Given the description of an element on the screen output the (x, y) to click on. 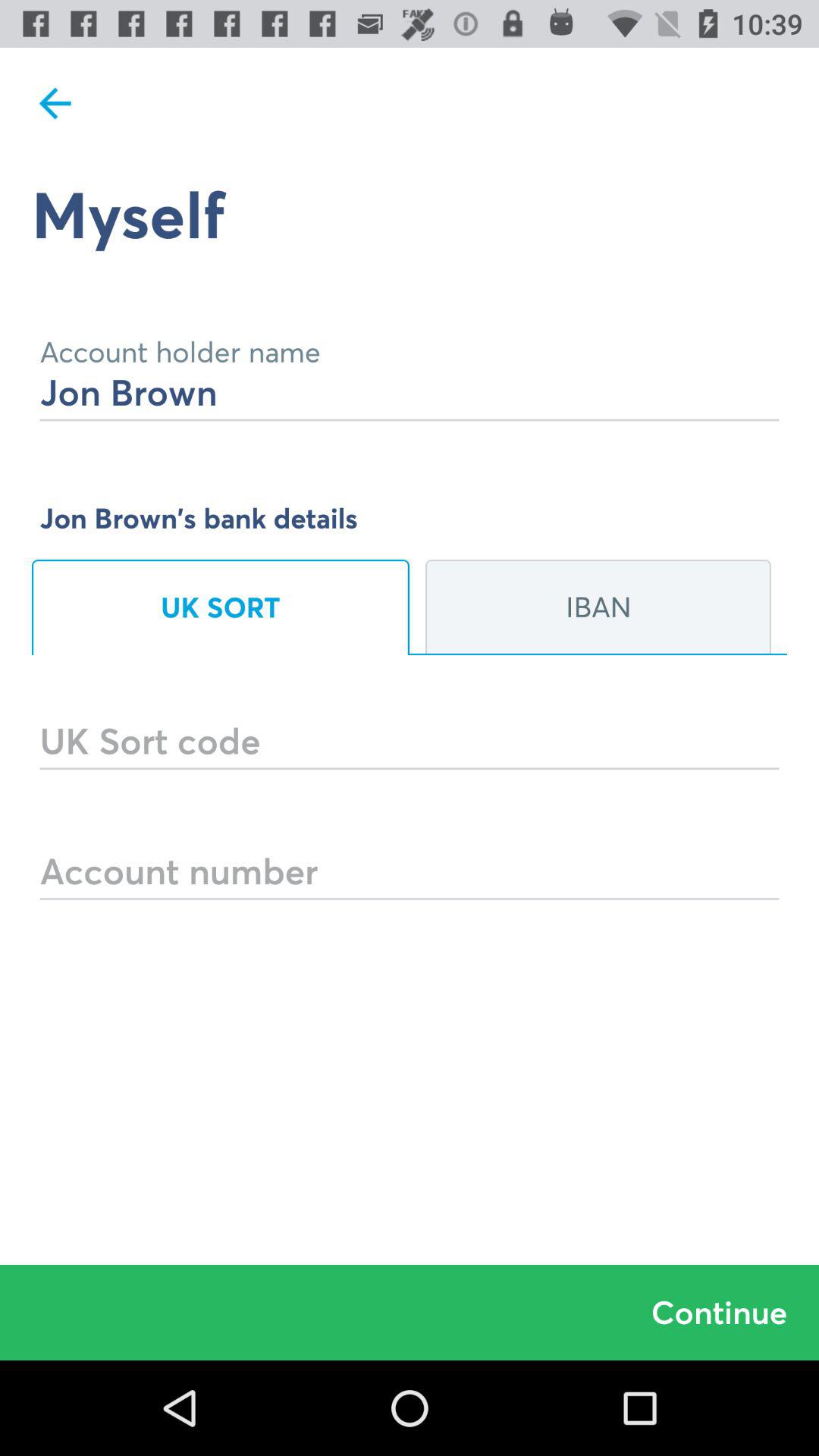
scroll until the iban icon (598, 607)
